Given the description of an element on the screen output the (x, y) to click on. 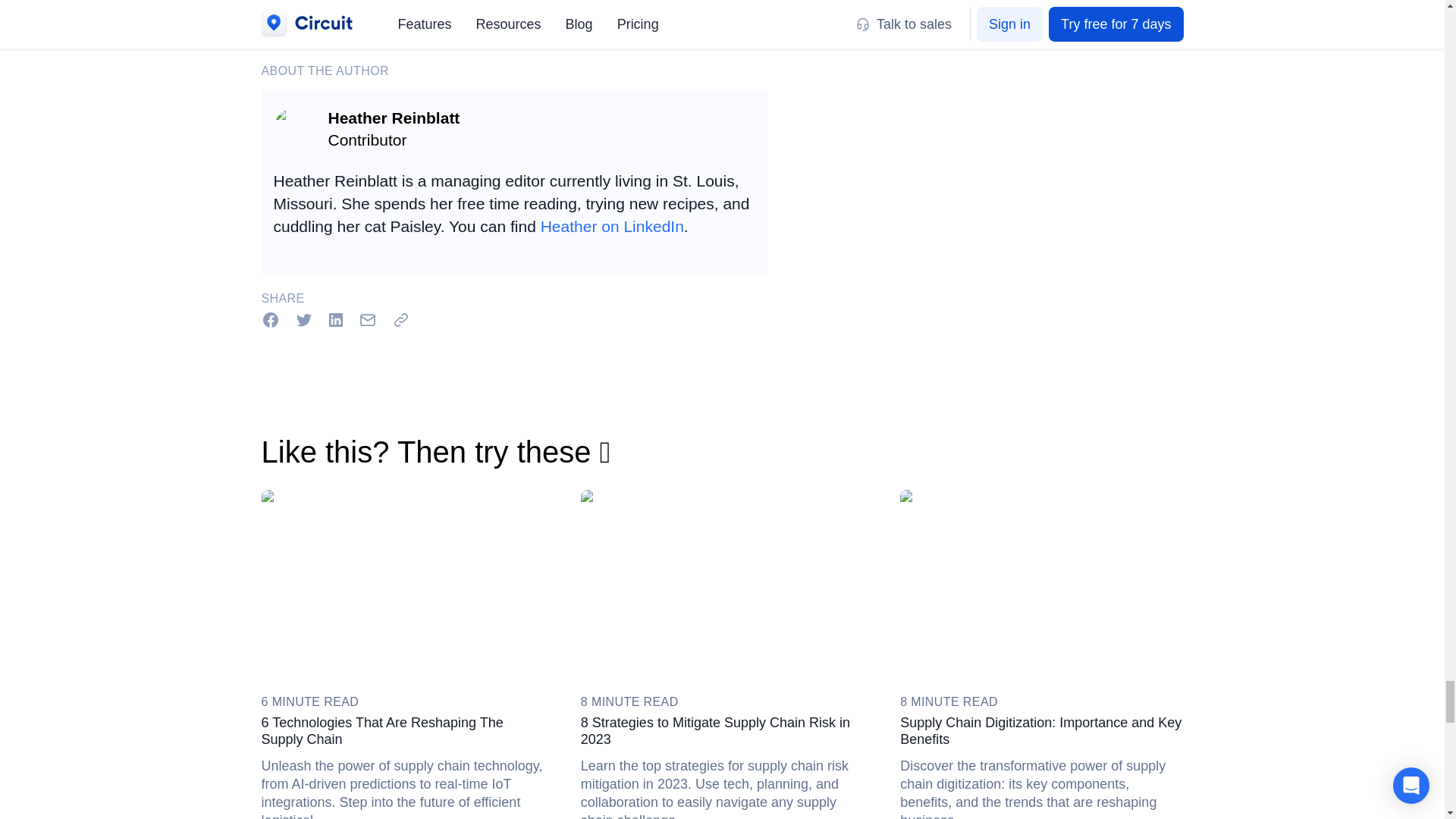
Share on Twitter (303, 319)
Circuit for Teams (365, 2)
Share on Facebook (269, 319)
